Given the description of an element on the screen output the (x, y) to click on. 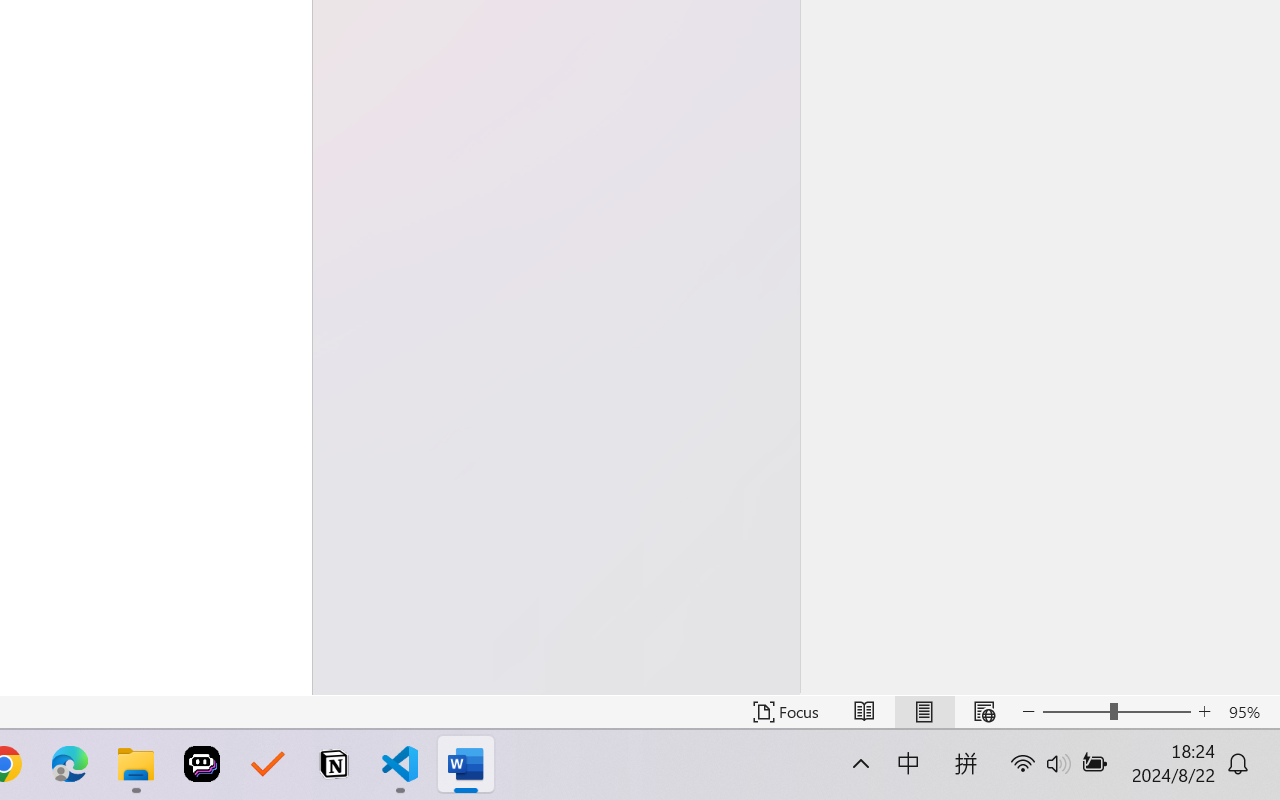
Zoom 95% (1249, 712)
